Given the description of an element on the screen output the (x, y) to click on. 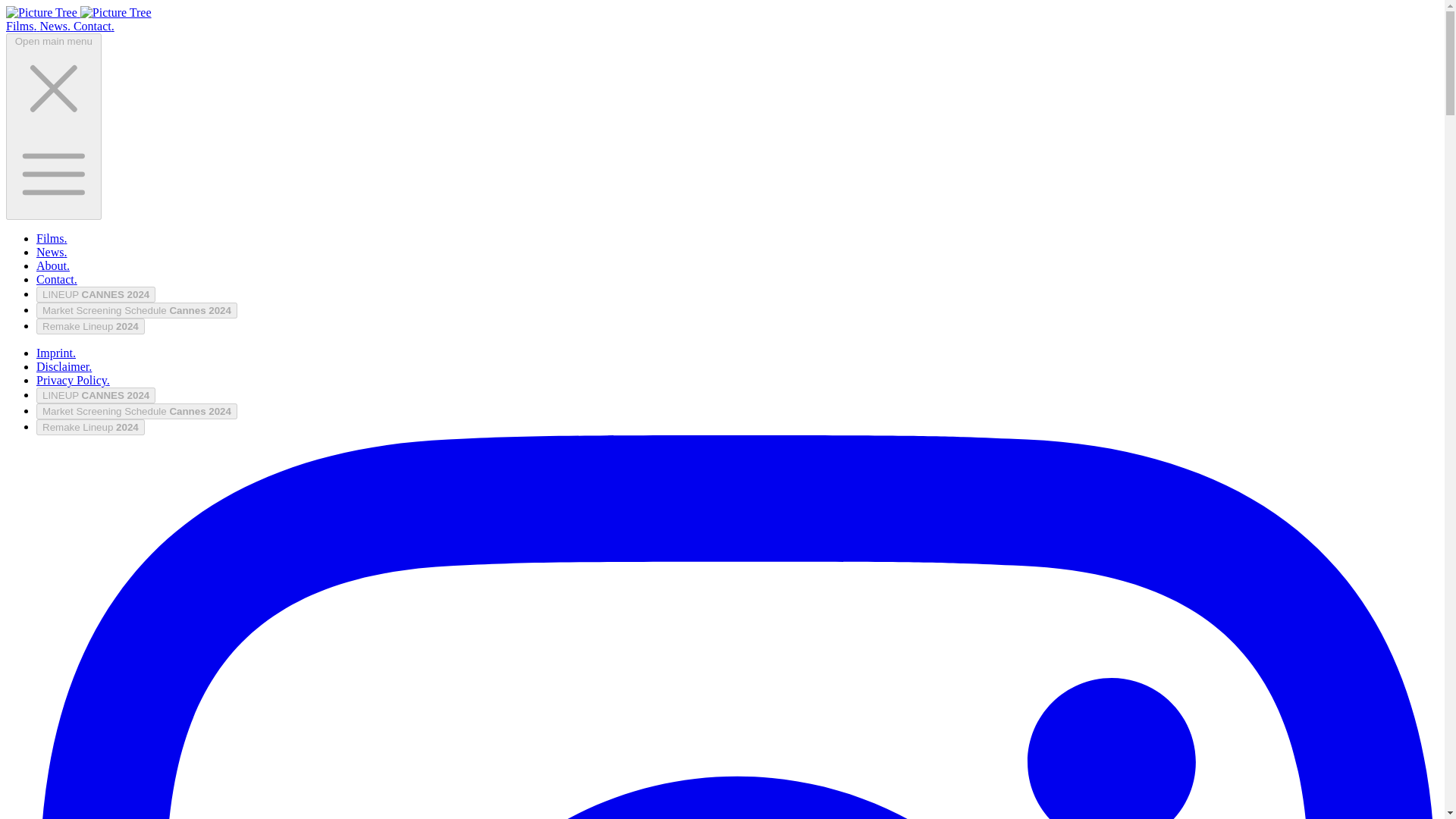
Remake Lineup 2024 (90, 426)
LINEUP CANNES 2024 (95, 395)
Films (51, 237)
Contact (56, 278)
Imprint. (55, 352)
Disclaimer (63, 366)
Contact (94, 25)
Remake Lineup 2024 (90, 326)
Contact. (56, 278)
Imprint (55, 352)
News (55, 25)
Market Screening Schedule Cannes 2024 (136, 411)
Contact. (94, 25)
Disclaimer. (63, 366)
LINEUP CANNES 2024 (95, 294)
